Given the description of an element on the screen output the (x, y) to click on. 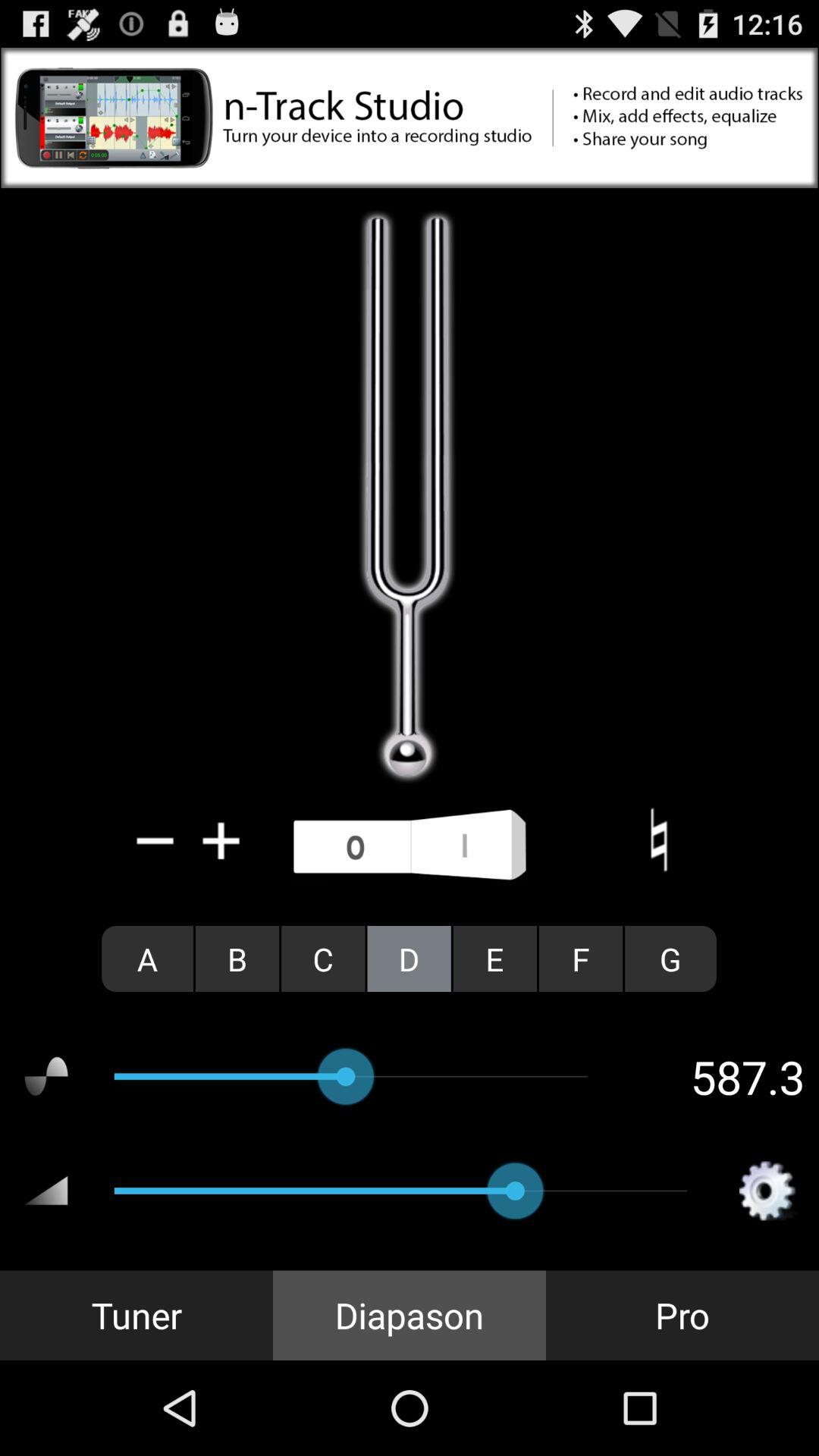
jump until f item (580, 958)
